Given the description of an element on the screen output the (x, y) to click on. 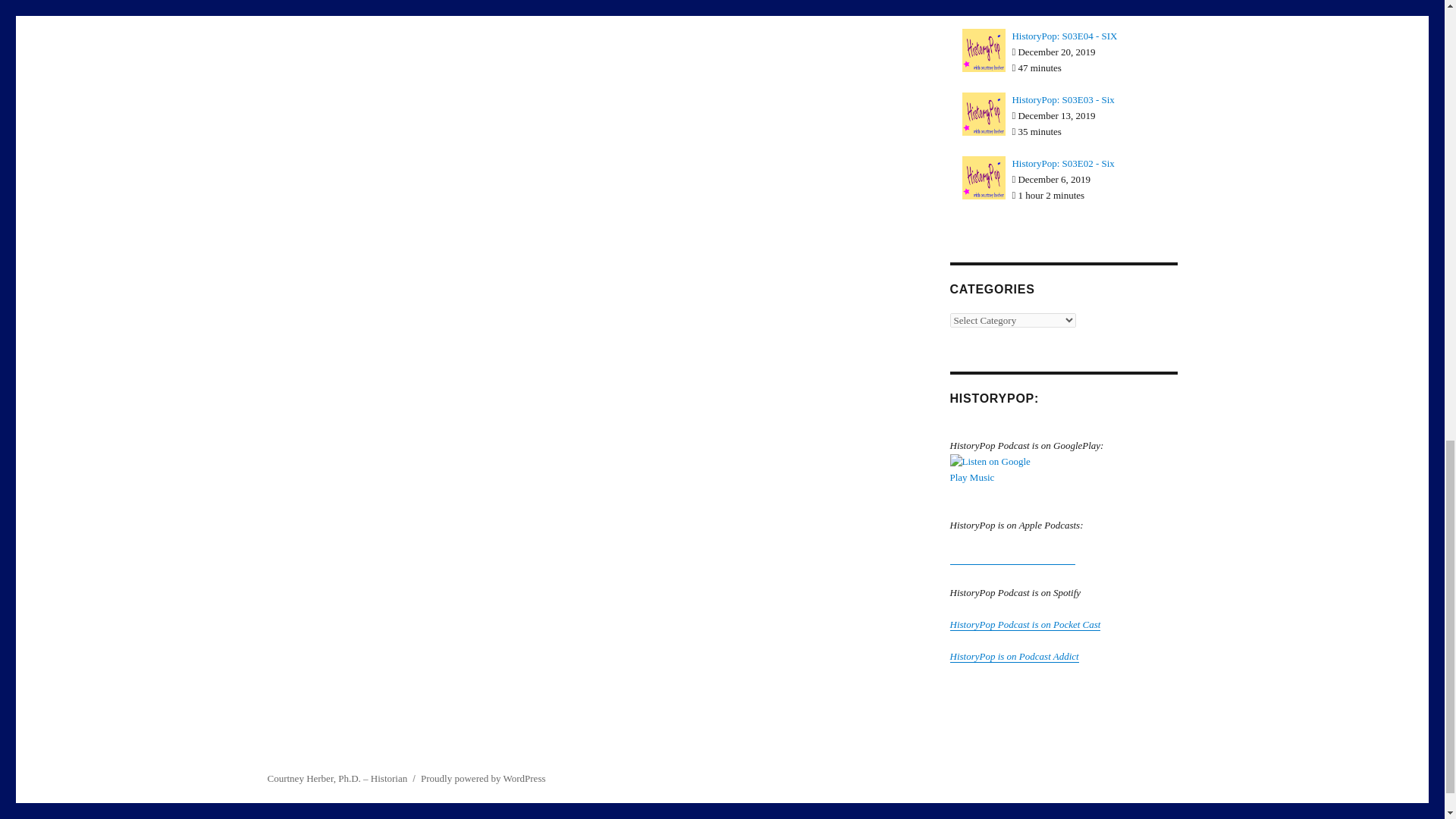
HistoryPop: S03E03 - Six (1062, 99)
HistoryPop is on Podcast Addict (1013, 655)
HistoryPop Podcast is on Pocket Cast (1024, 624)
HistoryPop: S03E04 - SIX (1063, 35)
HistoryPop: S03E02 - Six (1062, 163)
